Given the description of an element on the screen output the (x, y) to click on. 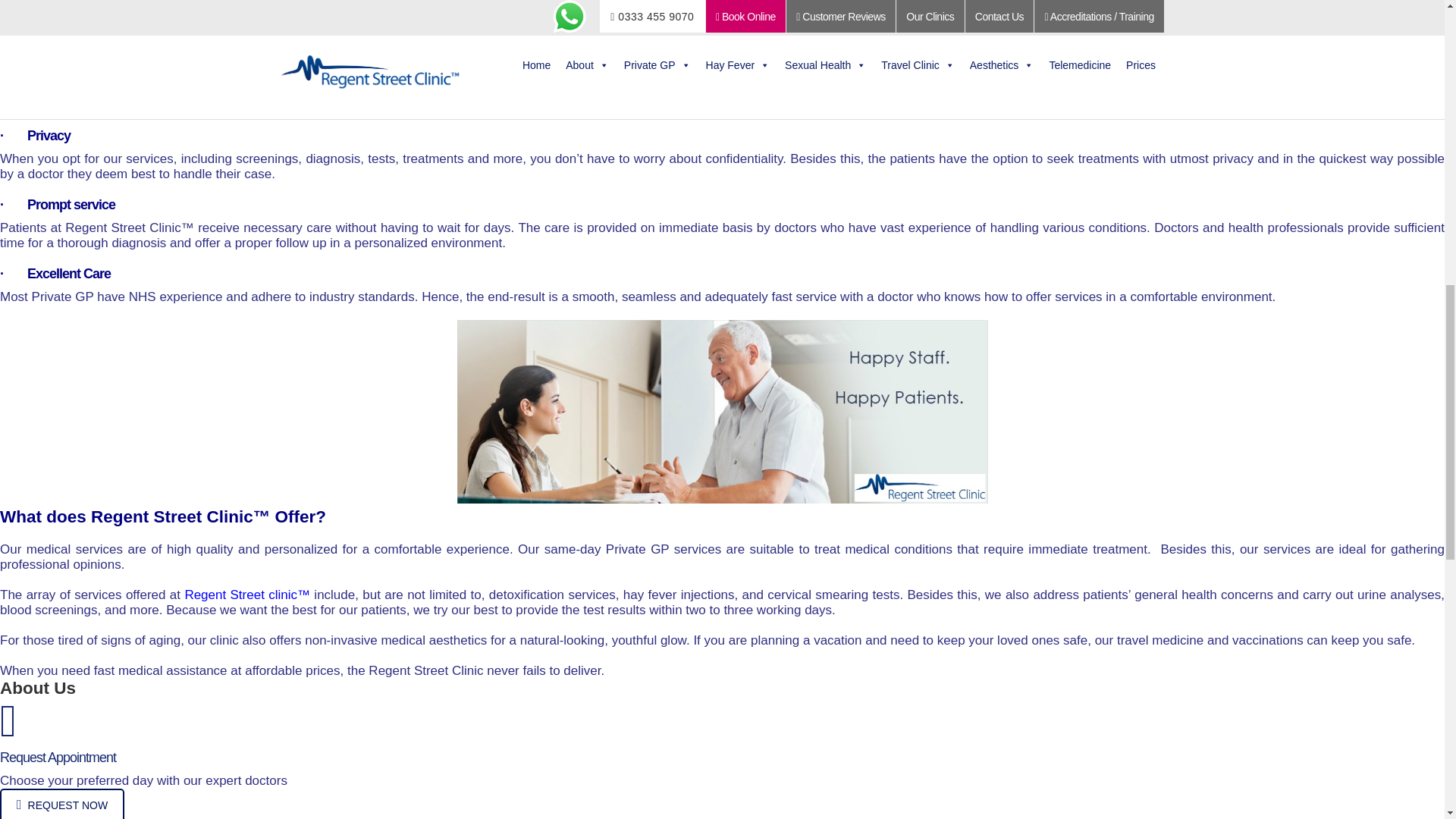
Private GP Clinic (722, 411)
